Given the description of an element on the screen output the (x, y) to click on. 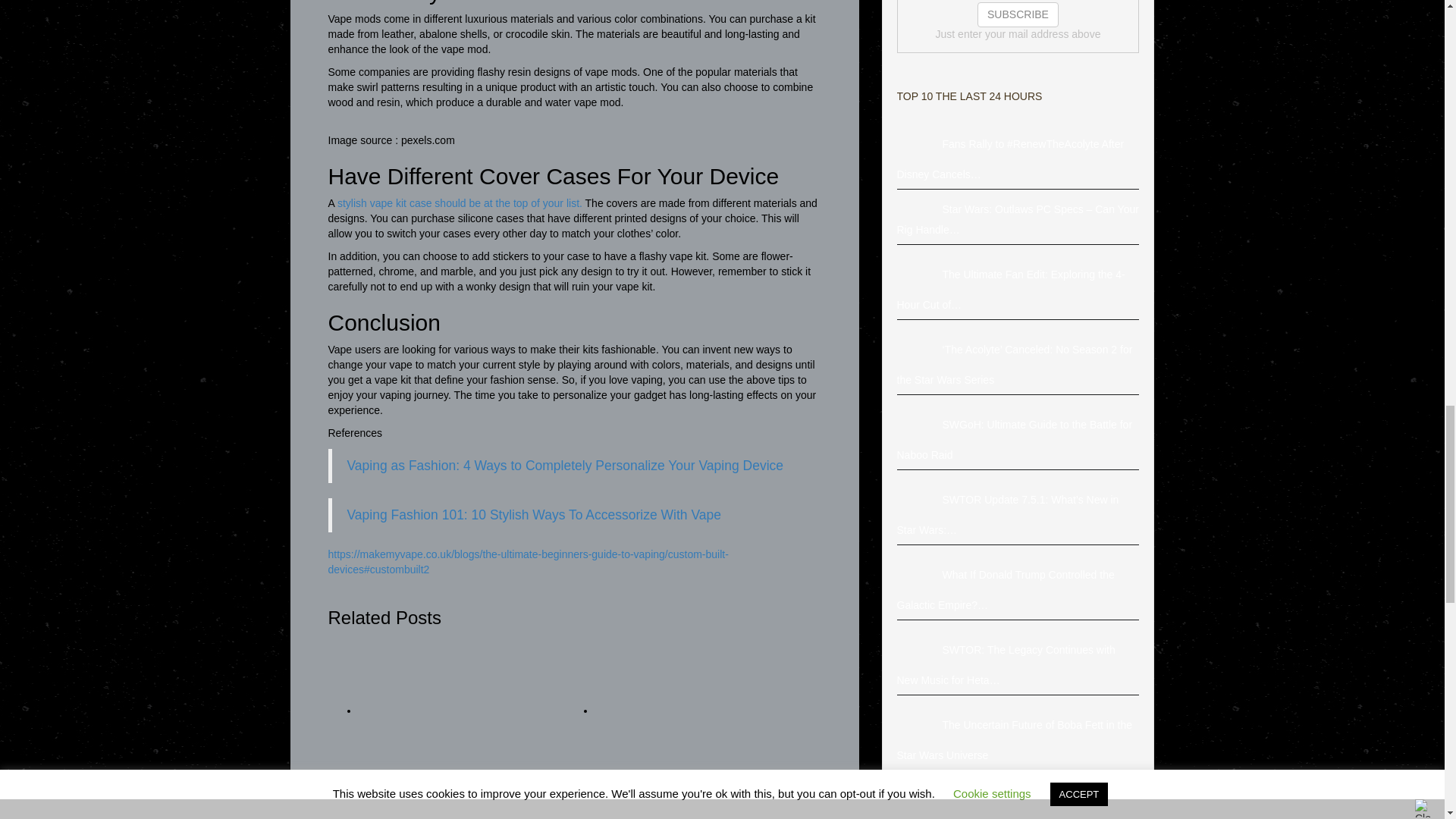
The Uncertain Future of Boba Fett in the Star Wars Universe (919, 725)
SWGoH: Ultimate Guide to the Battle for Naboo Raid (919, 424)
Subscribe (1017, 14)
